Given the description of an element on the screen output the (x, y) to click on. 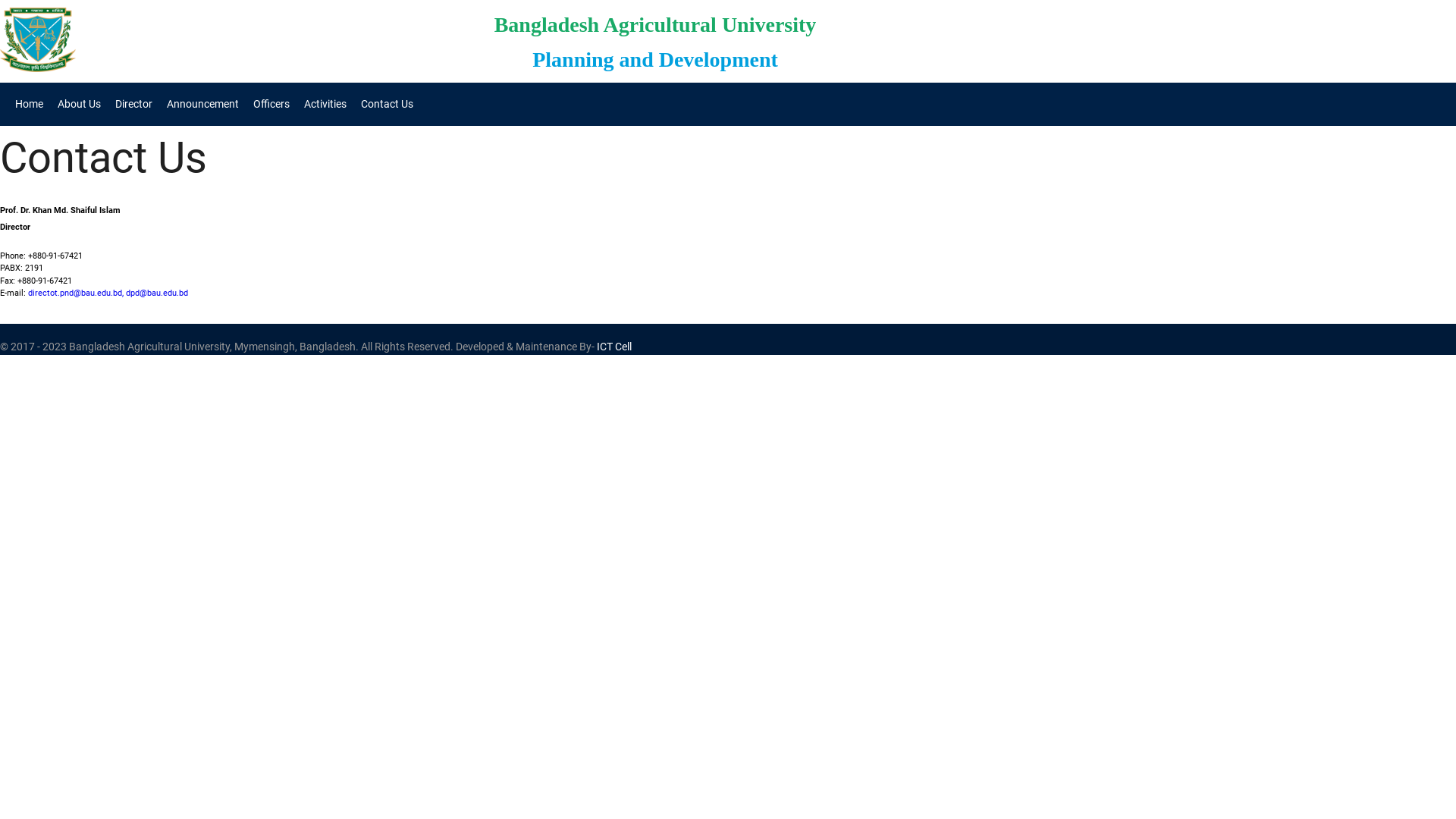
Director Element type: text (133, 103)
Contact Us Element type: text (386, 103)
Officers Element type: text (271, 103)
Announcement Element type: text (202, 103)
Home Element type: text (29, 103)
Activities Element type: text (325, 103)
directot.pnd@bau.edu.bd, dpd@bau.edu.bd Element type: text (108, 293)
About Us Element type: text (78, 103)
ICT Cell Element type: text (613, 346)
Bangladesh Agricultural University Element type: text (655, 24)
